Given the description of an element on the screen output the (x, y) to click on. 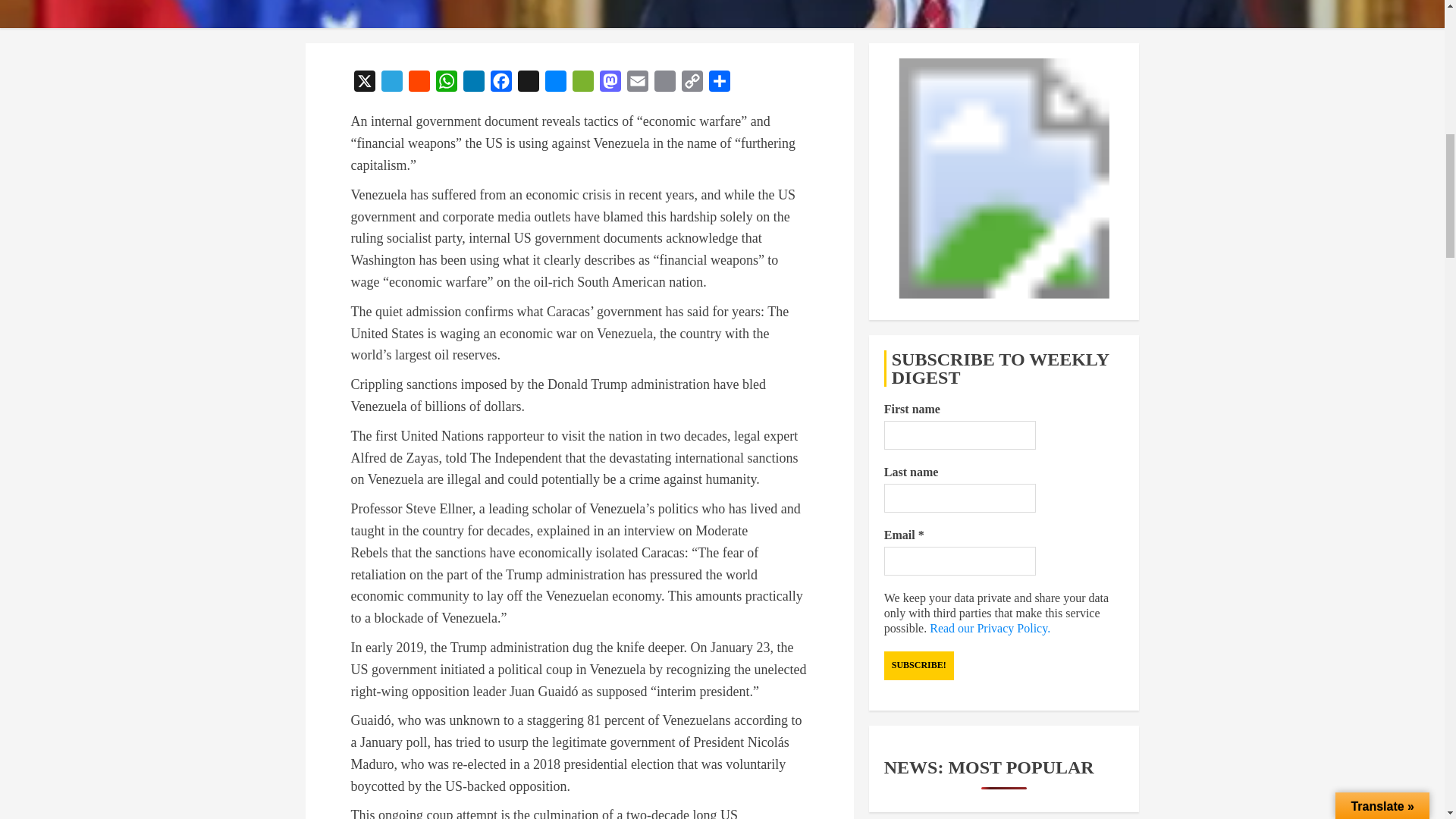
Reddit (418, 84)
Threads (527, 84)
Email (636, 84)
Messenger (555, 84)
WhatsApp (446, 84)
Mastodon (609, 84)
X (363, 84)
Subscribe! (918, 665)
Copy Link (691, 84)
Print (664, 84)
